Given the description of an element on the screen output the (x, y) to click on. 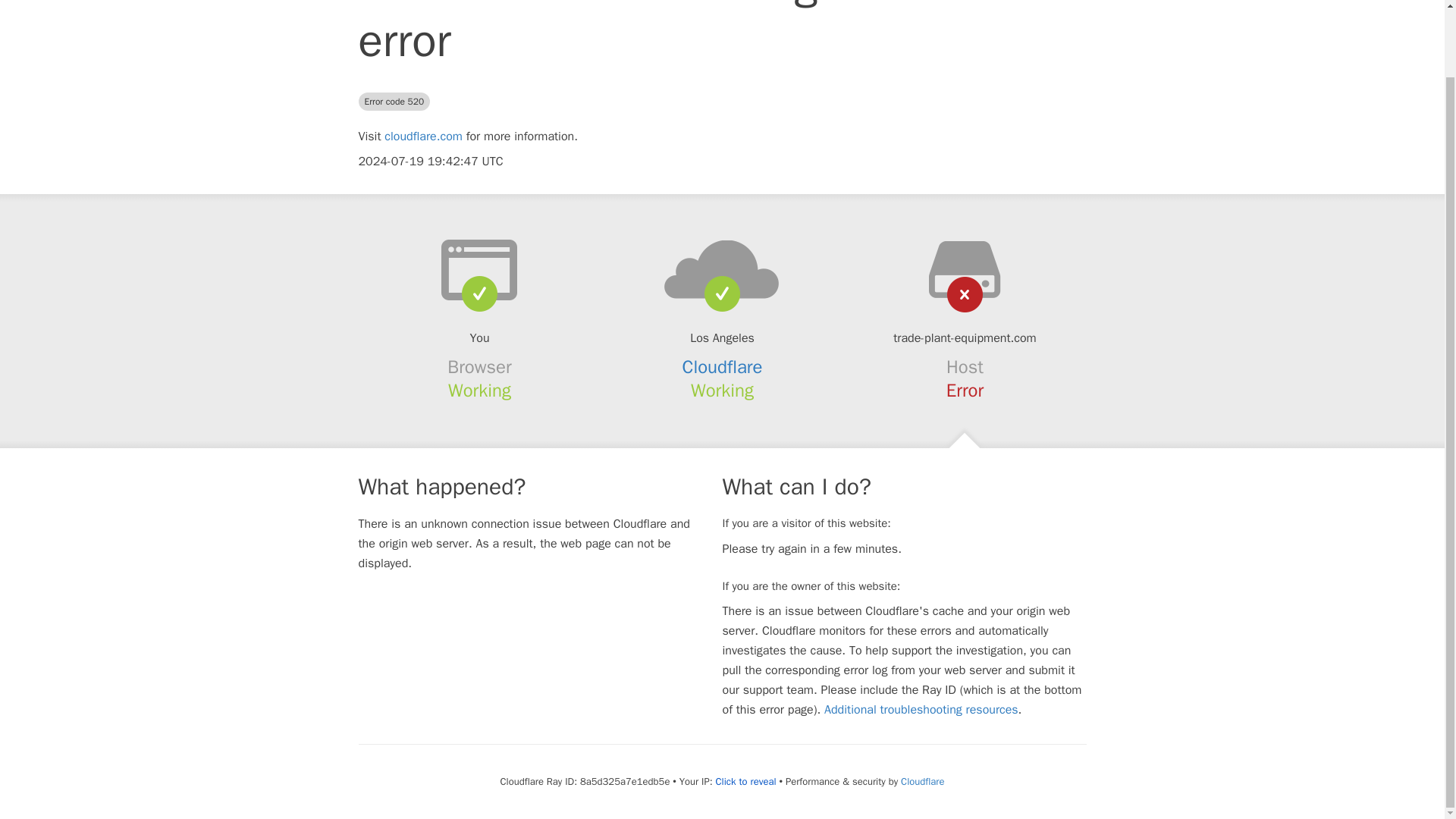
Click to reveal (746, 781)
Cloudflare (722, 366)
Additional troubleshooting resources (920, 709)
cloudflare.com (423, 136)
Cloudflare (922, 780)
